Given the description of an element on the screen output the (x, y) to click on. 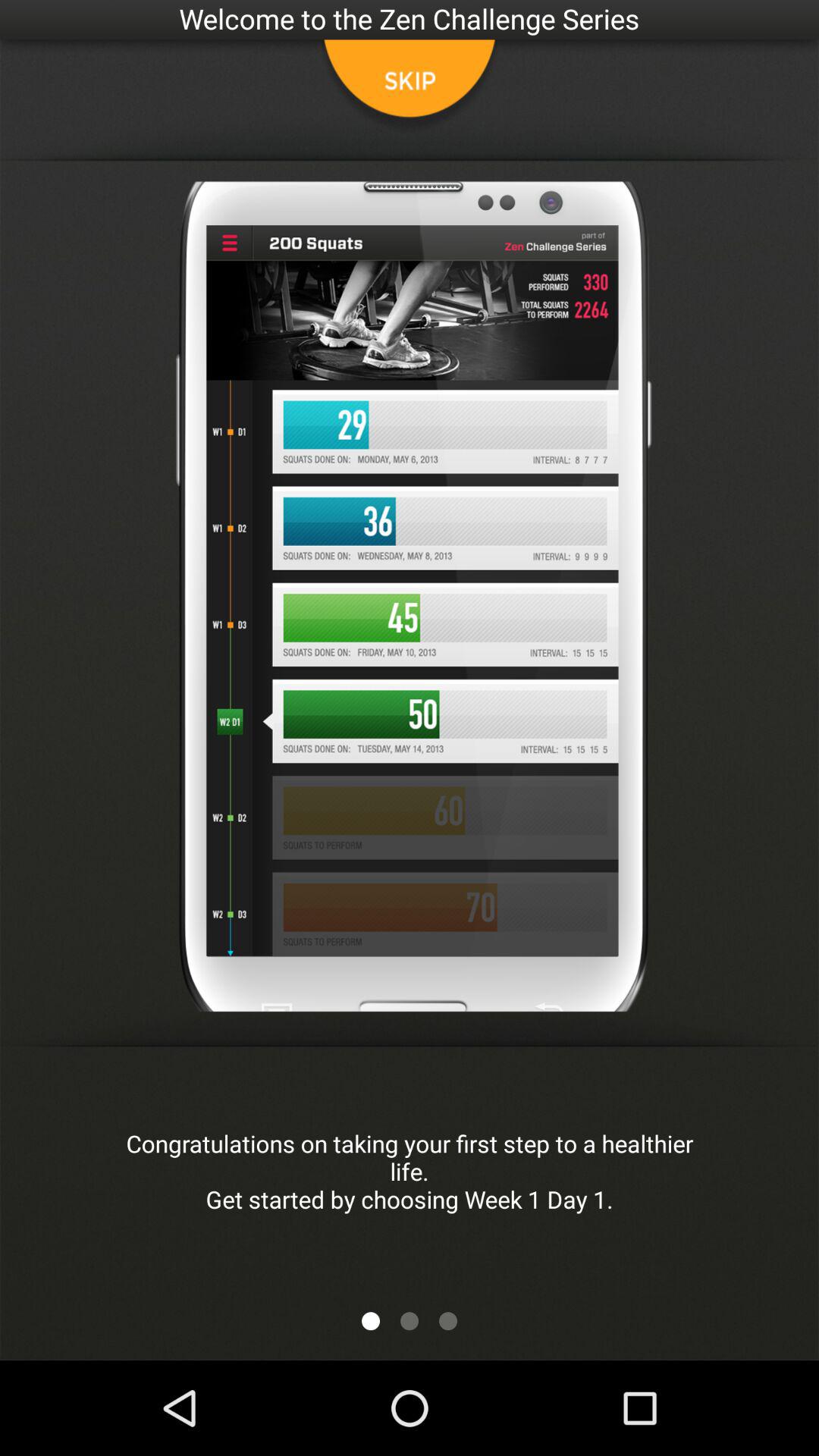
select the item below the congratulations on taking app (409, 1321)
